Given the description of an element on the screen output the (x, y) to click on. 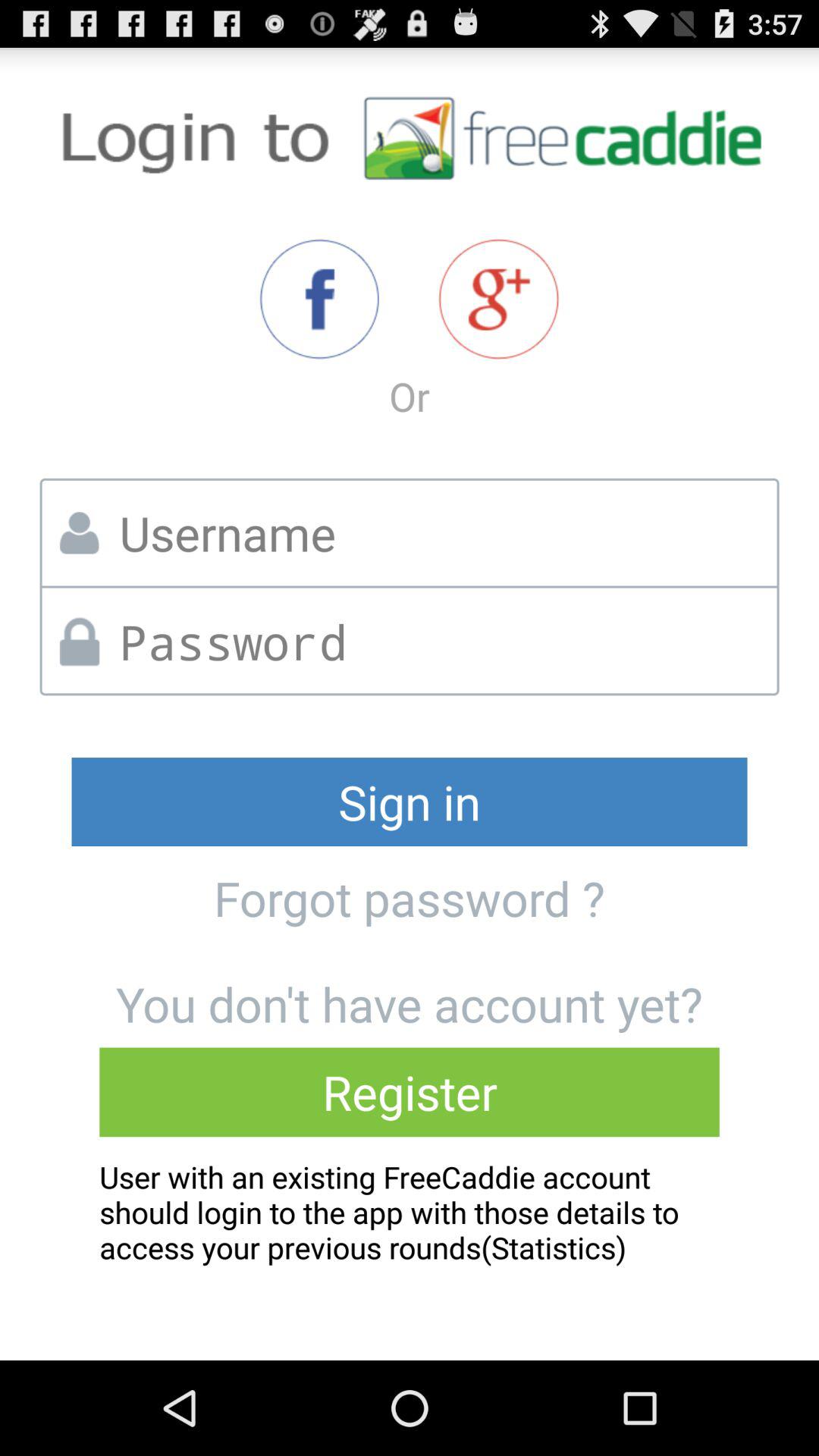
tap item above or (498, 298)
